Given the description of an element on the screen output the (x, y) to click on. 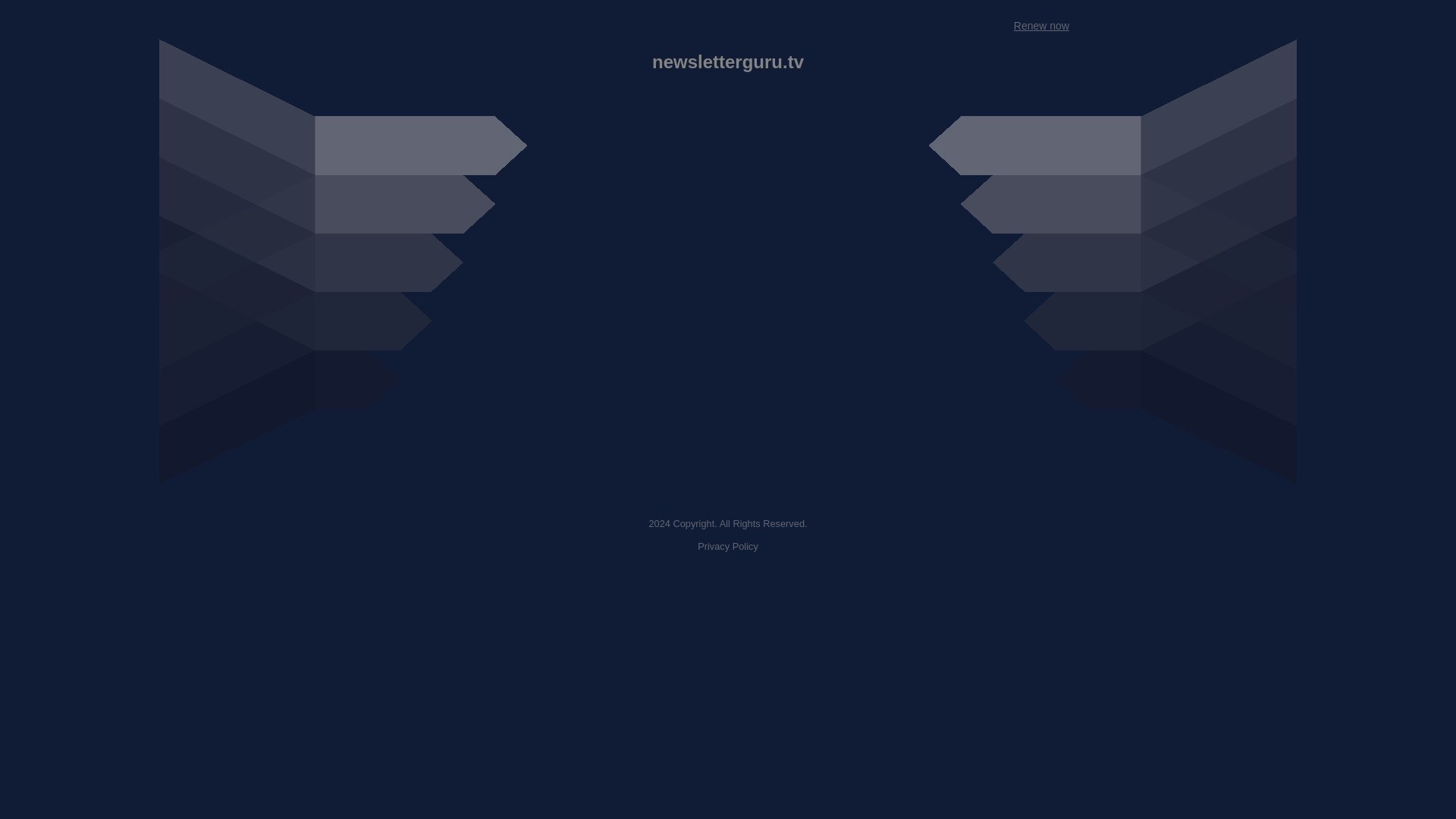
Renew now (1040, 25)
Privacy Policy (727, 546)
